Given the description of an element on the screen output the (x, y) to click on. 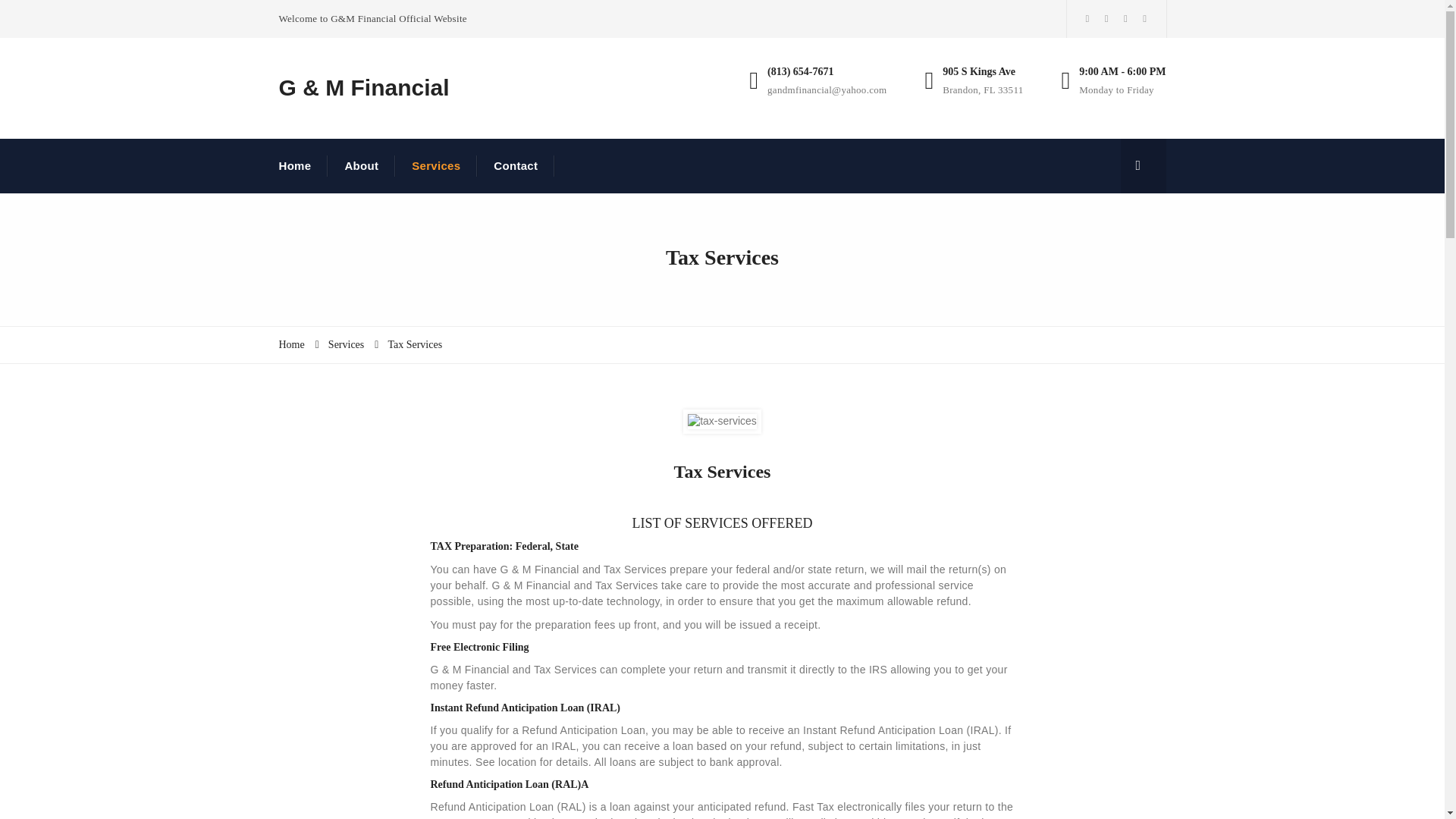
Home (291, 344)
Home (304, 165)
Contact (515, 165)
Services (346, 344)
Services (435, 165)
About (360, 165)
